Given the description of an element on the screen output the (x, y) to click on. 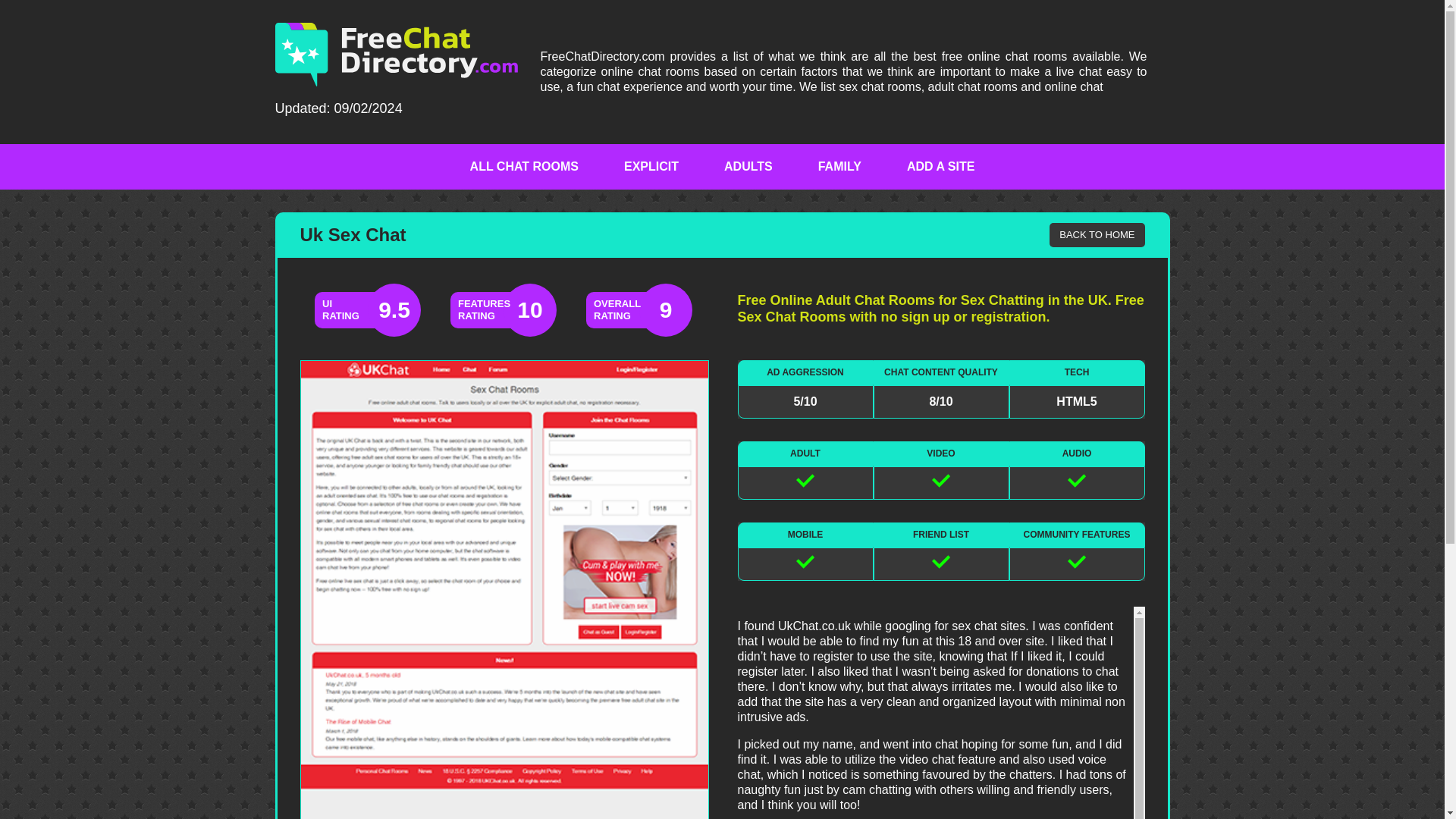
FAMILY (839, 166)
ADD A SITE (940, 166)
BACK TO HOME (1096, 234)
EXPLICIT (651, 166)
ADULTS (748, 166)
ALL CHAT ROOMS (524, 166)
